Given the description of an element on the screen output the (x, y) to click on. 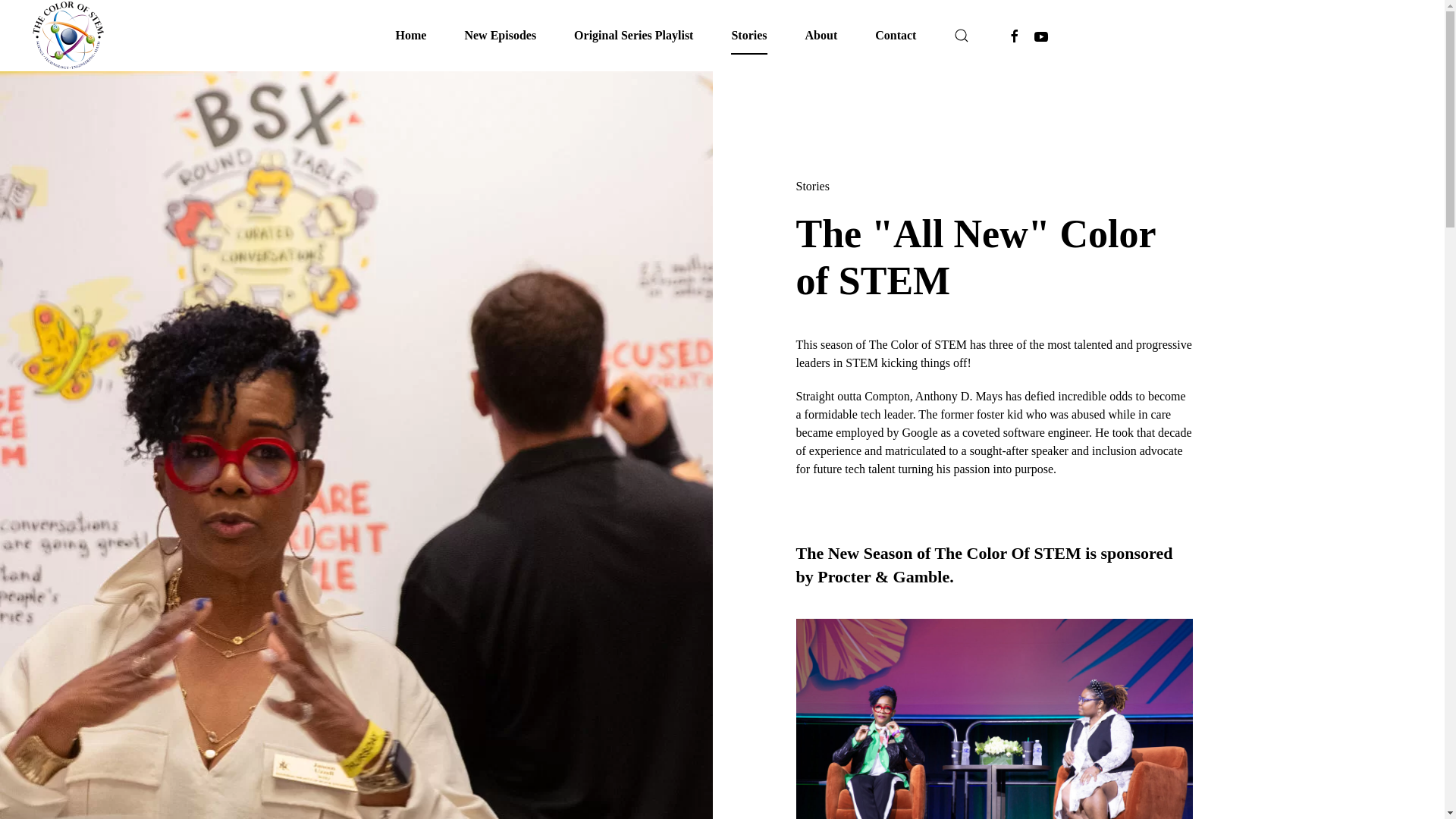
Stories (812, 185)
New Episodes (499, 35)
Original Series Playlist (633, 35)
